Given the description of an element on the screen output the (x, y) to click on. 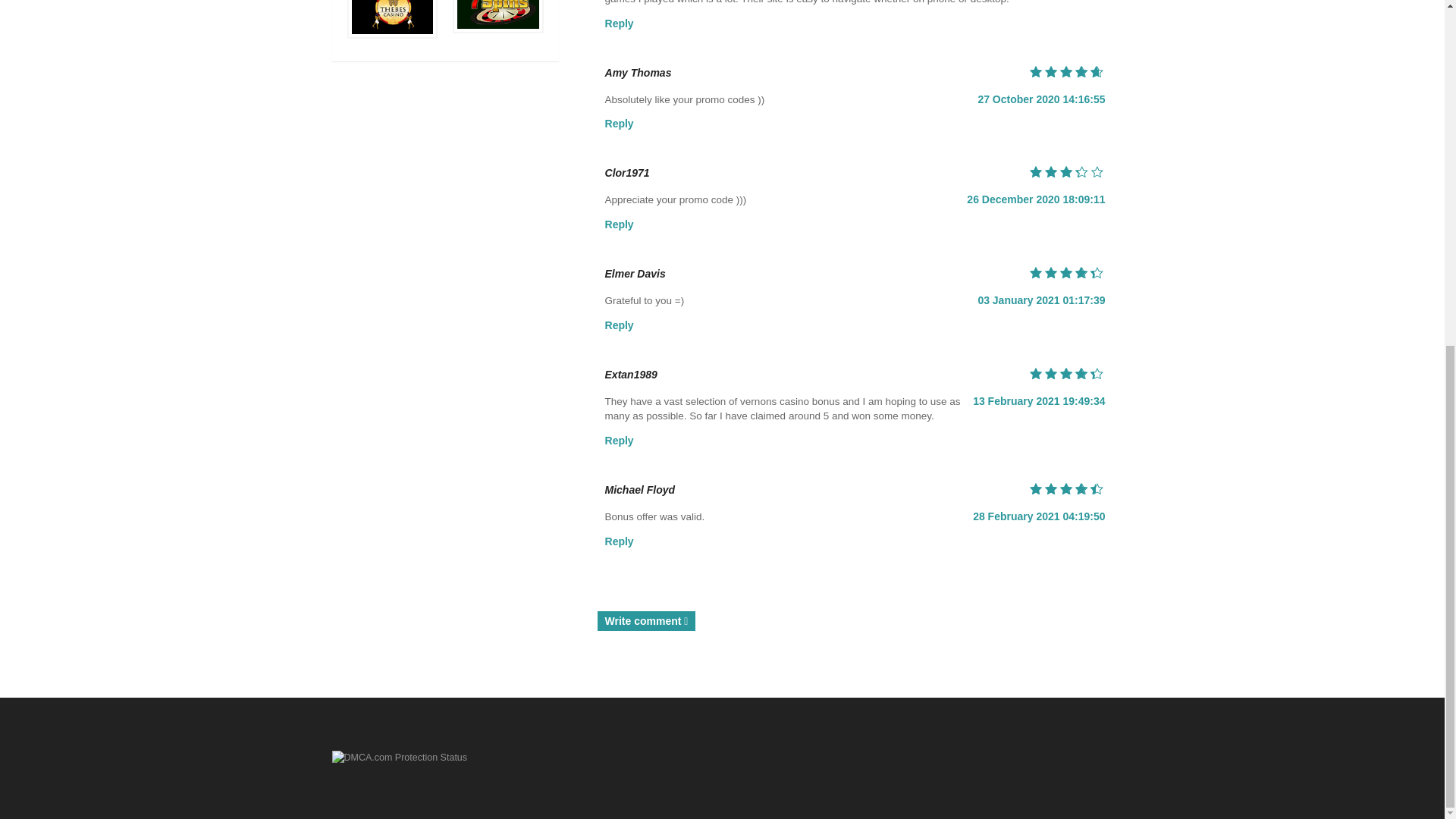
thebes-5 (392, 17)
DMCA.com Protection Status (399, 757)
7spins-1-1 (497, 14)
